Given the description of an element on the screen output the (x, y) to click on. 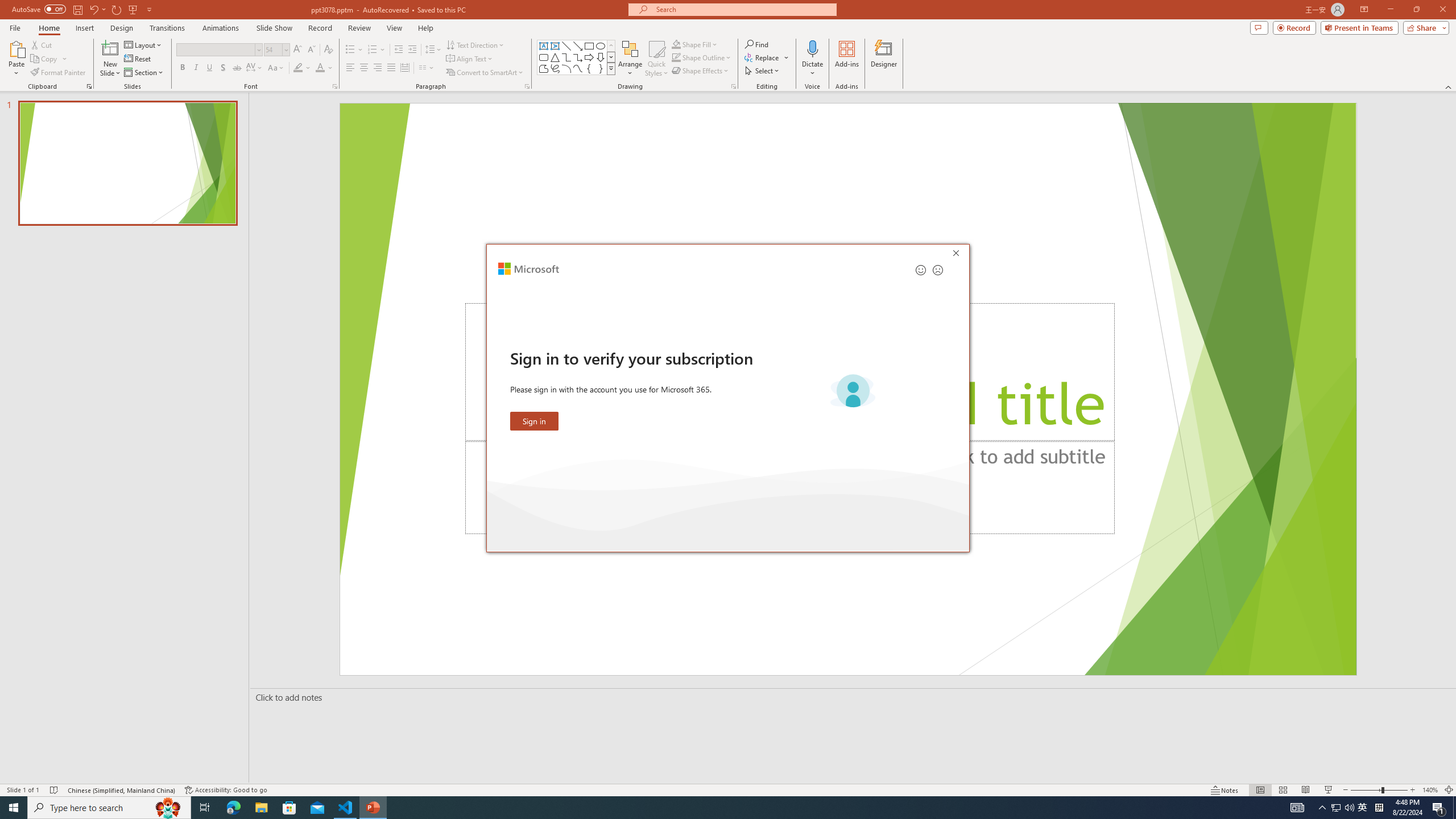
Action Center, 1 new notification (1439, 807)
Align Text (470, 58)
Columns (426, 67)
Change Case (276, 67)
